Given the description of an element on the screen output the (x, y) to click on. 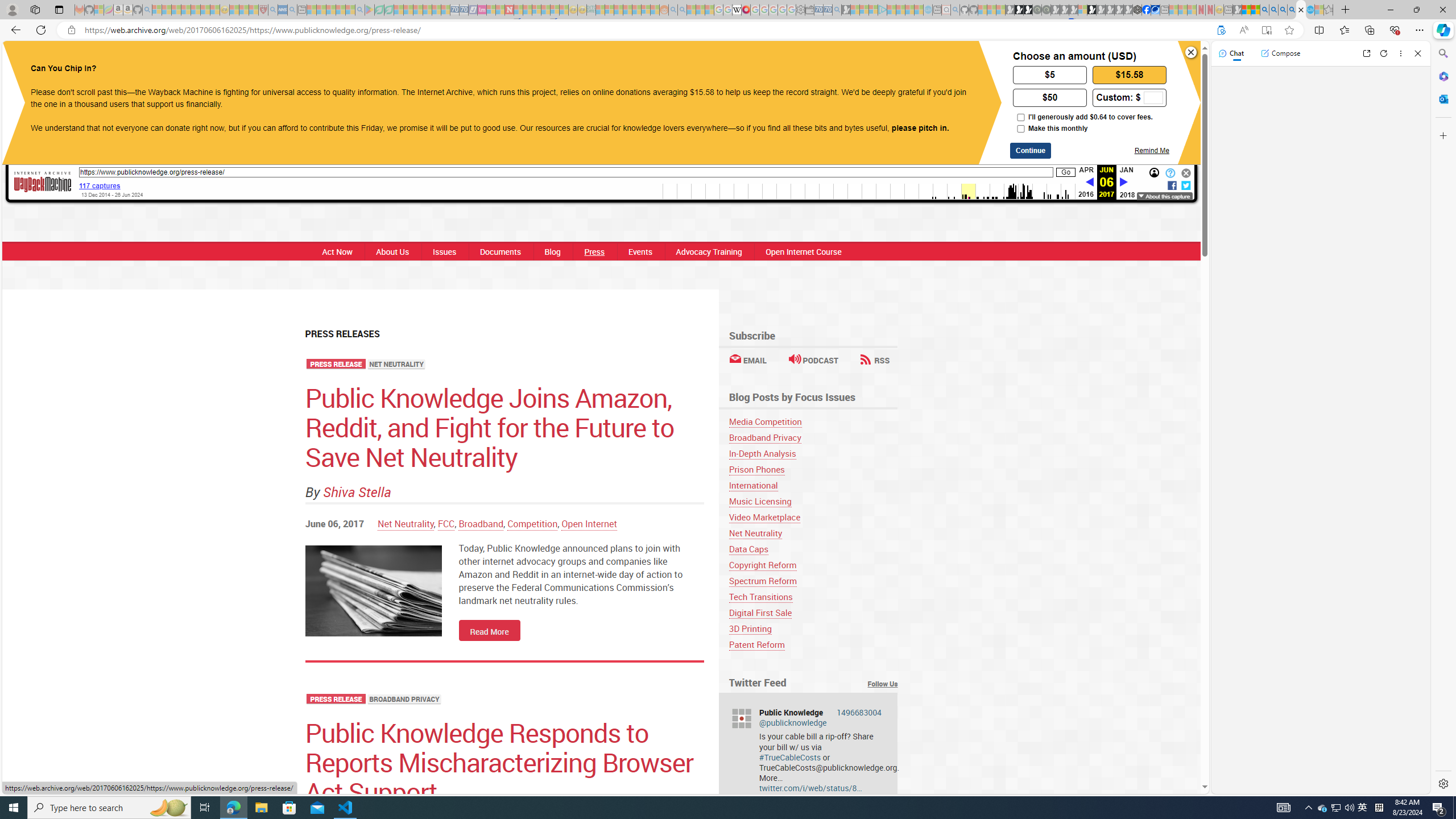
Digital First Sale (813, 612)
publicknowledge (740, 718)
Open Internet Course (803, 251)
Custom: $ (1129, 96)
Events (640, 251)
Next capture (1123, 181)
Patent Reform (813, 644)
NET NEUTRALITY (396, 364)
